Given the description of an element on the screen output the (x, y) to click on. 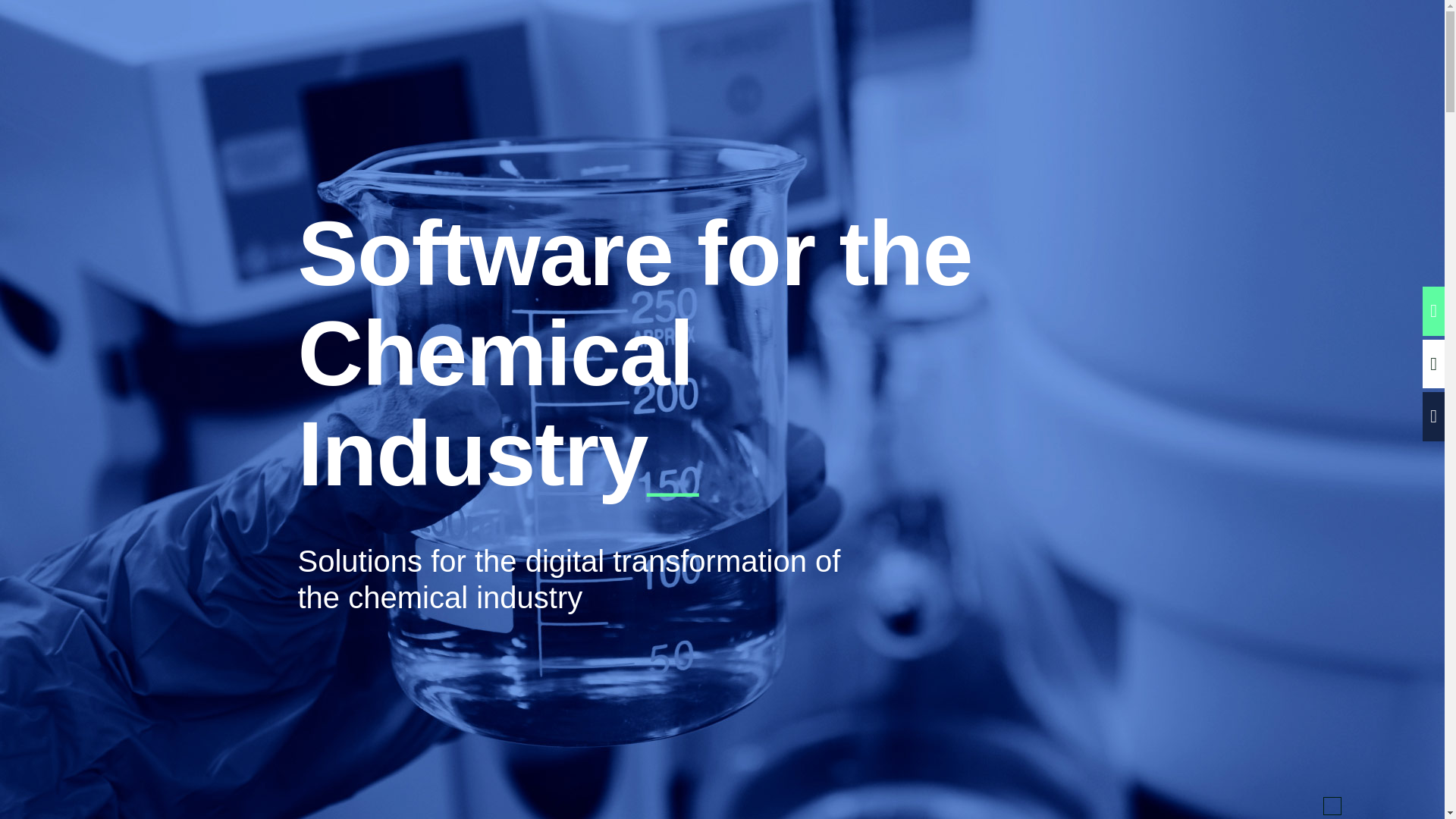
Language switcher : Spanish (1393, 802)
